Given the description of an element on the screen output the (x, y) to click on. 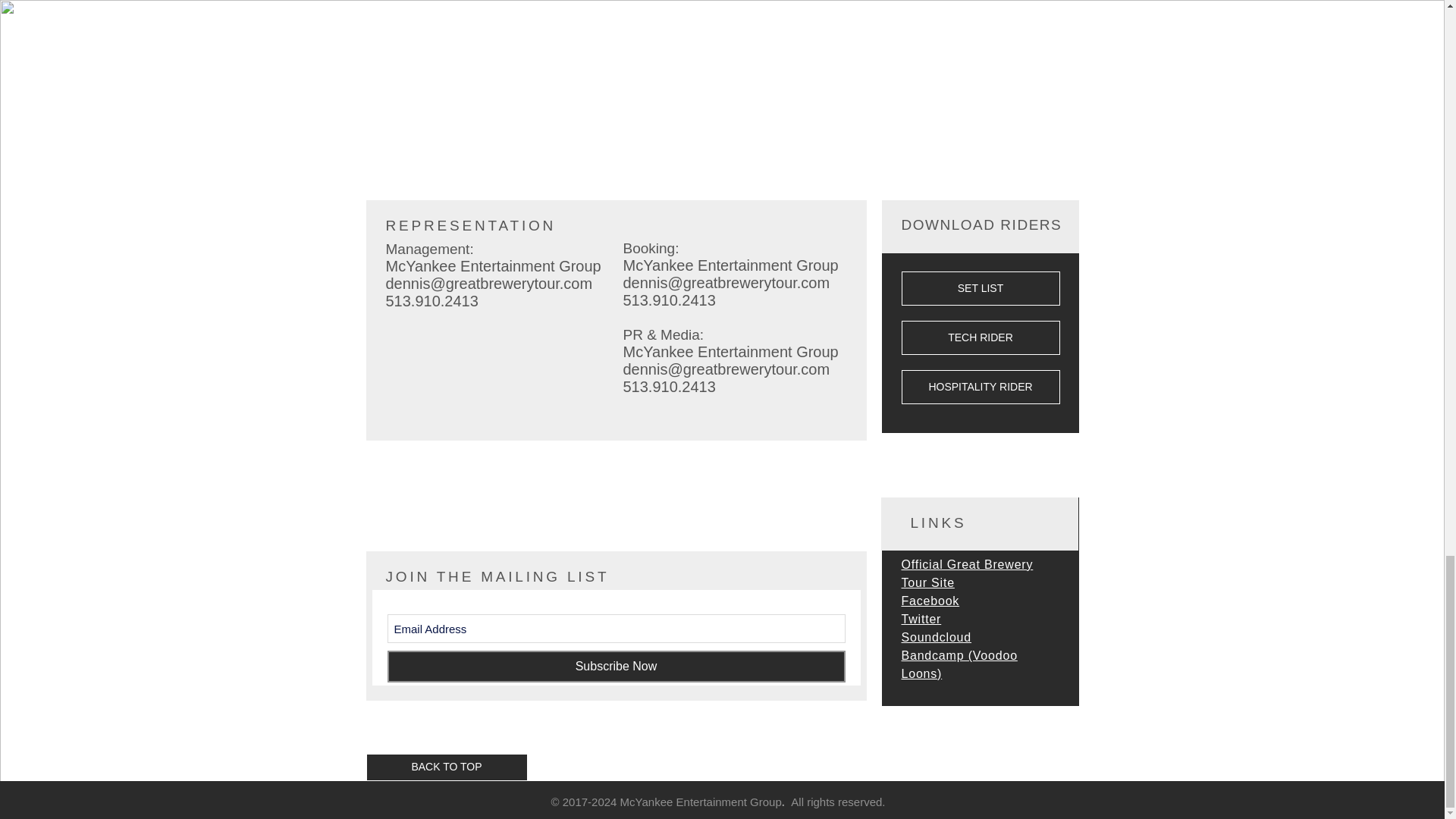
BACK TO TOP (446, 767)
SET LIST (980, 288)
Soundcloud (936, 636)
Official Great Brewery Tour Site (966, 572)
Subscribe Now (615, 666)
Facebook (930, 600)
Twitter (920, 618)
